Given the description of an element on the screen output the (x, y) to click on. 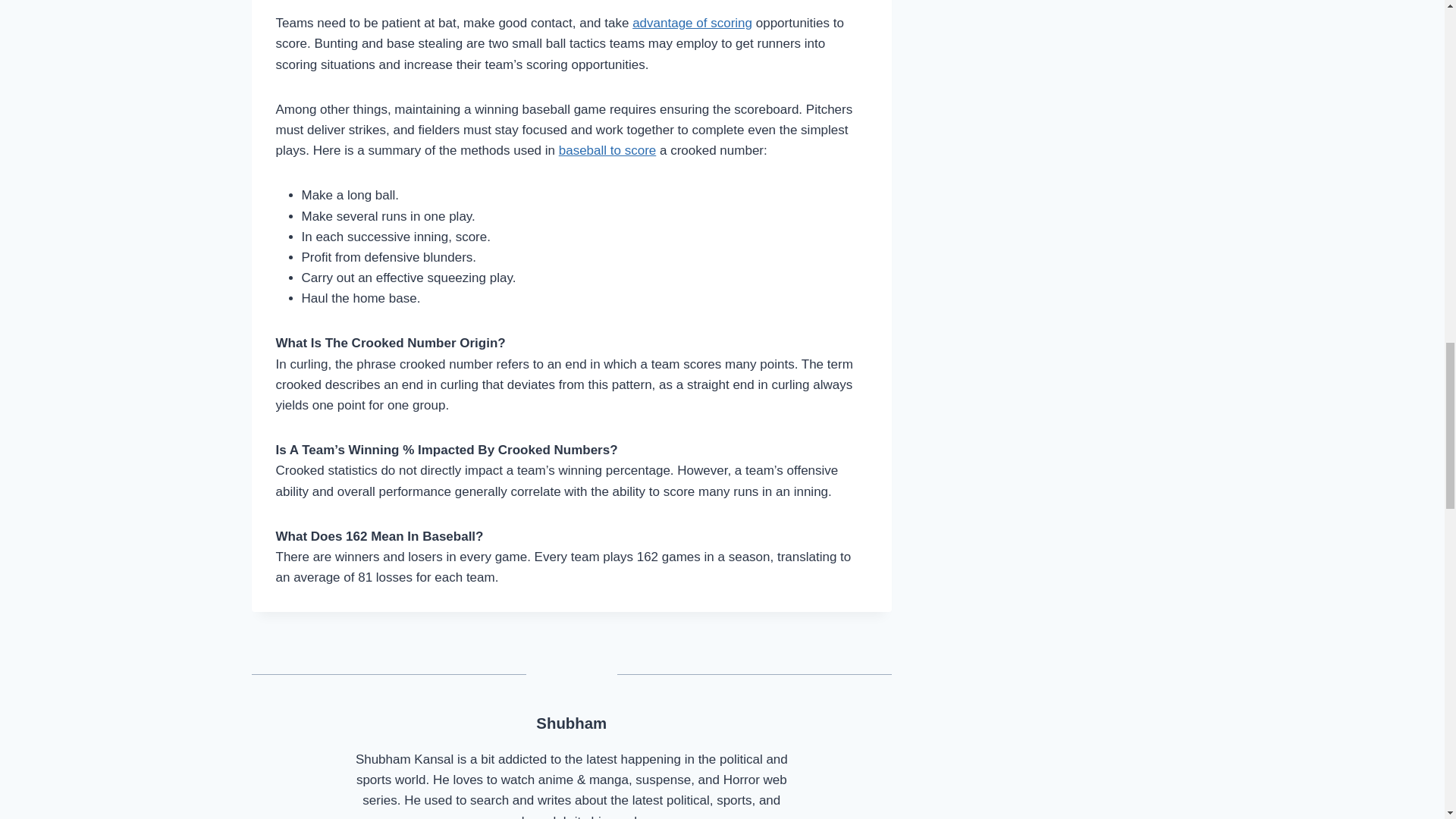
advantage of scoring (691, 22)
Shubham (571, 723)
Posts by Shubham (571, 723)
baseball to score (607, 150)
